Given the description of an element on the screen output the (x, y) to click on. 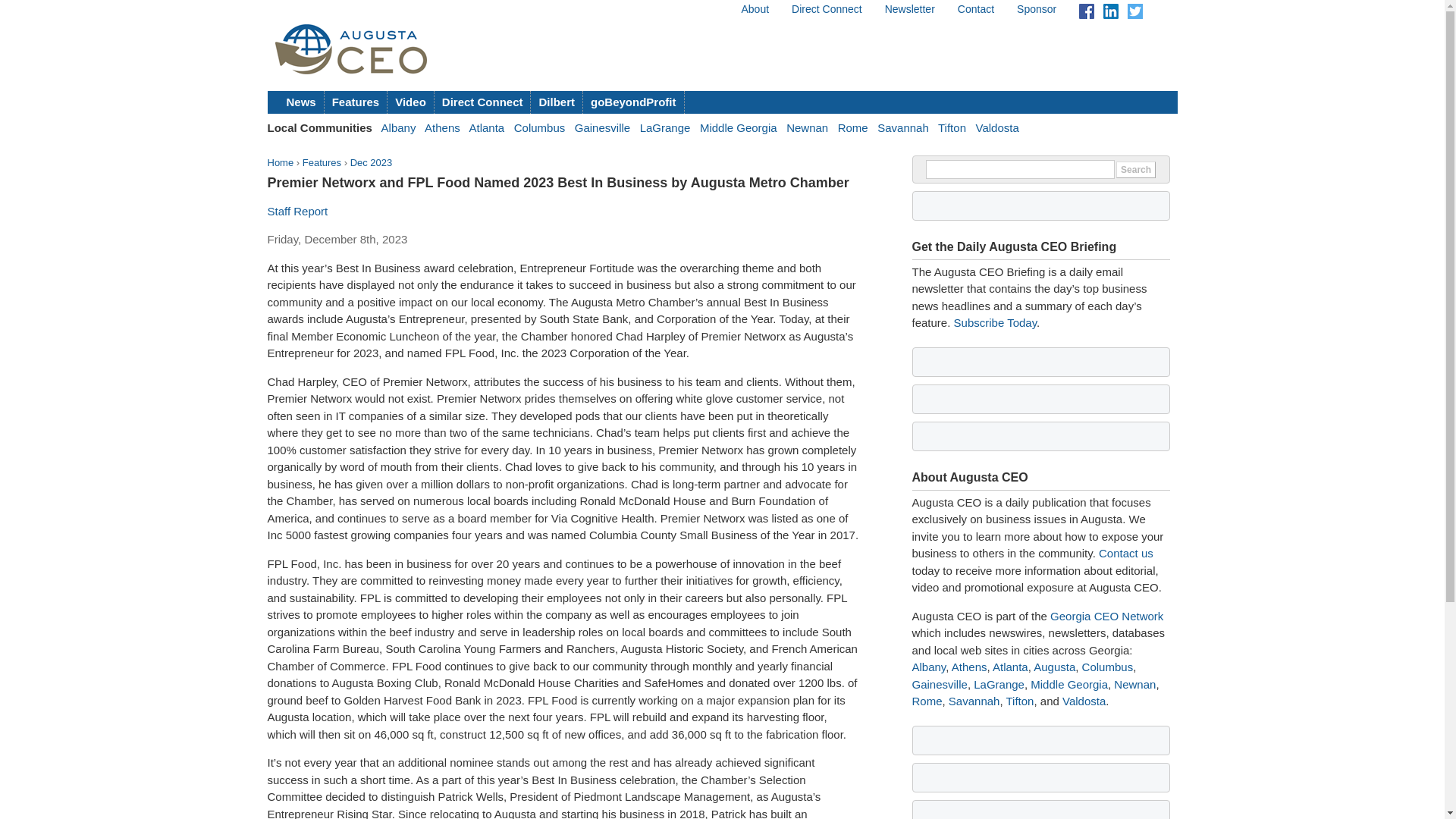
Atlanta (485, 127)
About (755, 9)
LaGrange (665, 127)
Search (1136, 169)
Contact (976, 9)
Direct Connect (826, 9)
Contact us (1126, 553)
Albany (927, 666)
Savannah (902, 127)
Home (280, 162)
Valdosta (996, 127)
Staff Report (296, 210)
Athens (442, 127)
Search (1136, 169)
Georgia CEO Network (1106, 615)
